Given the description of an element on the screen output the (x, y) to click on. 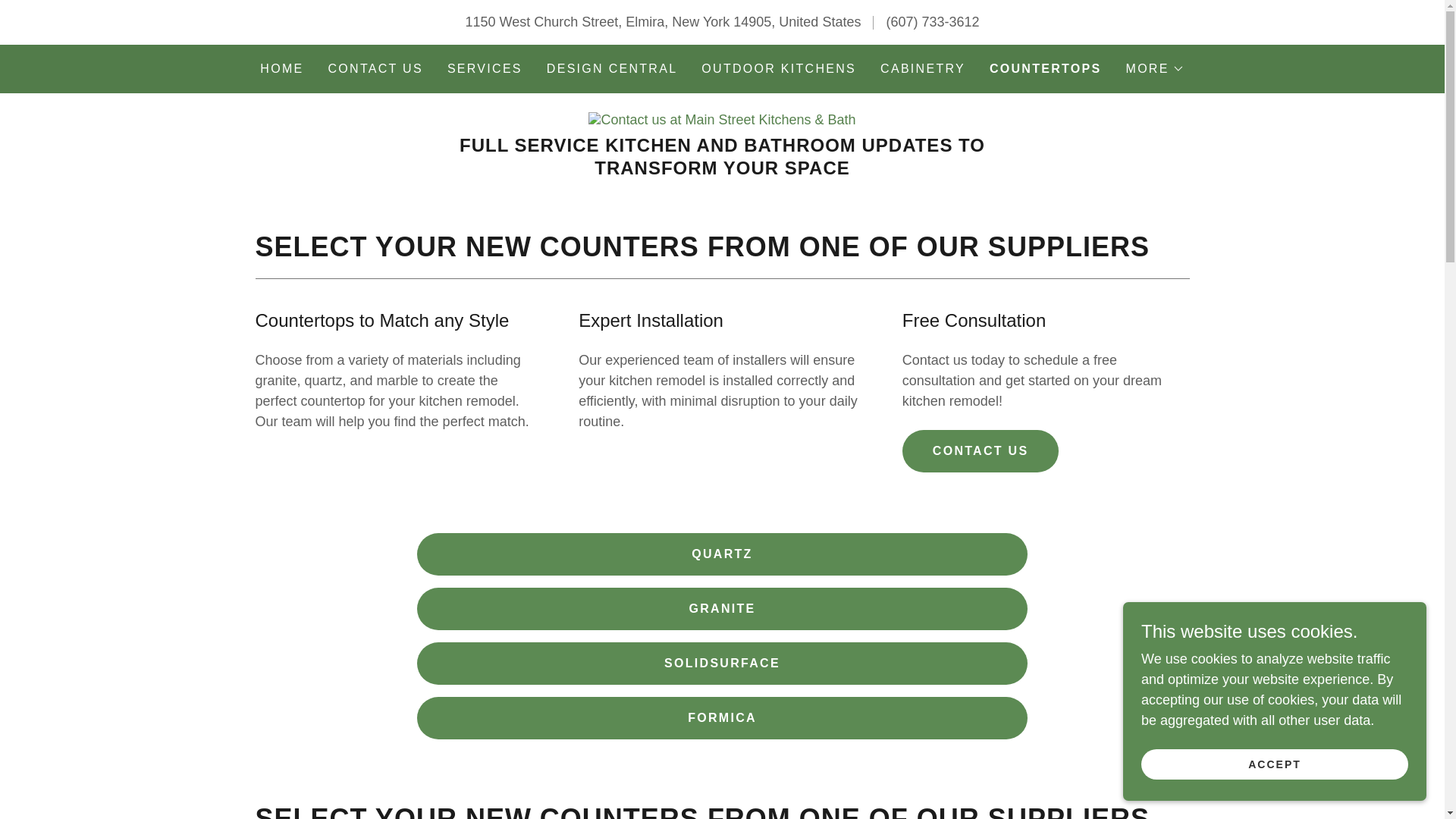
CABINETRY (922, 68)
CONTACT US (374, 68)
QUARTZ (721, 554)
CONTACT US (980, 450)
GRANITE (721, 608)
HOME (281, 68)
SERVICES (484, 68)
MORE (1155, 68)
DESIGN CENTRAL (611, 68)
OUTDOOR KITCHENS (778, 68)
